Given the description of an element on the screen output the (x, y) to click on. 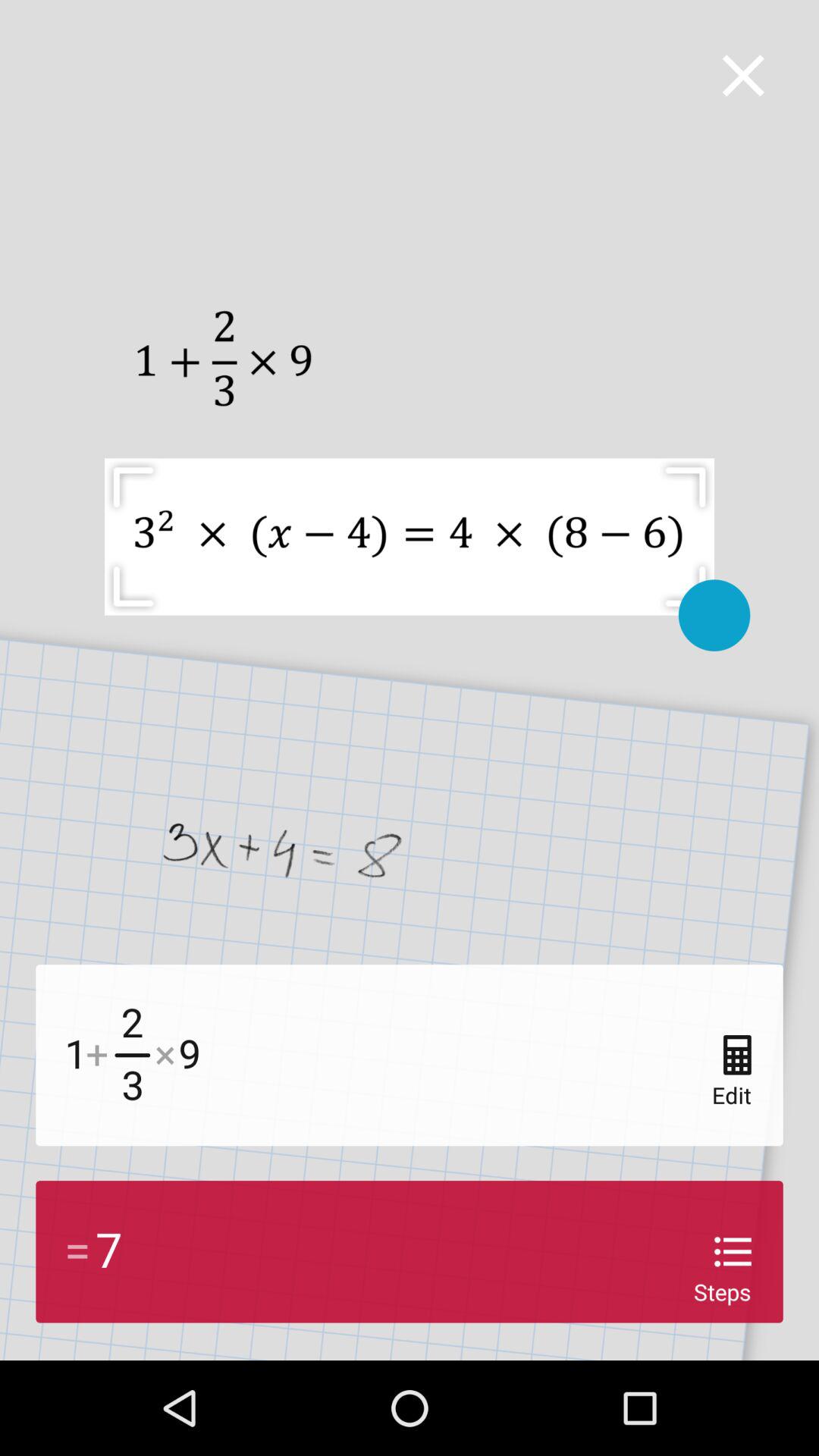
select icon at the top right corner (743, 75)
